Given the description of an element on the screen output the (x, y) to click on. 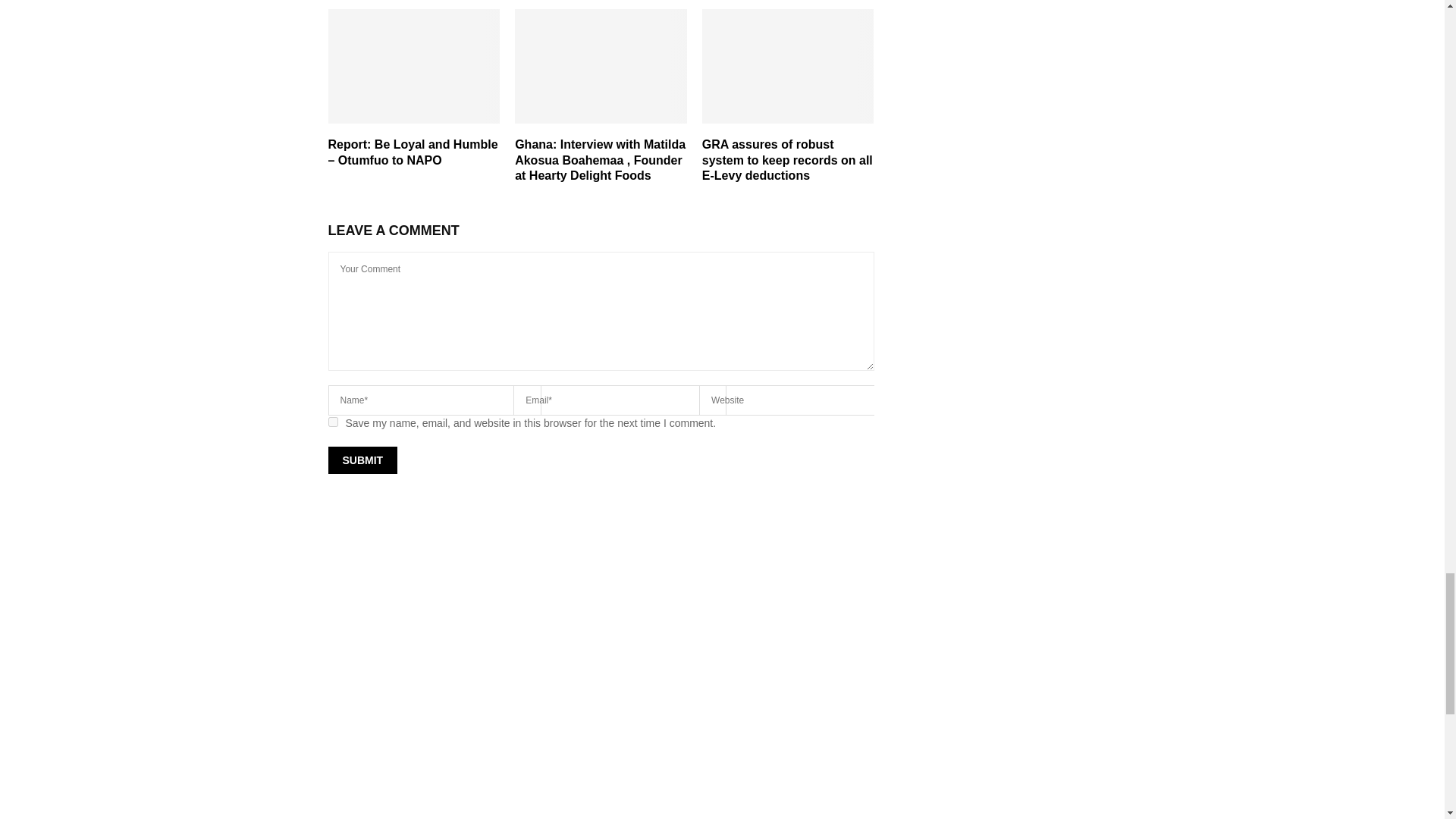
yes (332, 421)
Submit (362, 460)
